Given the description of an element on the screen output the (x, y) to click on. 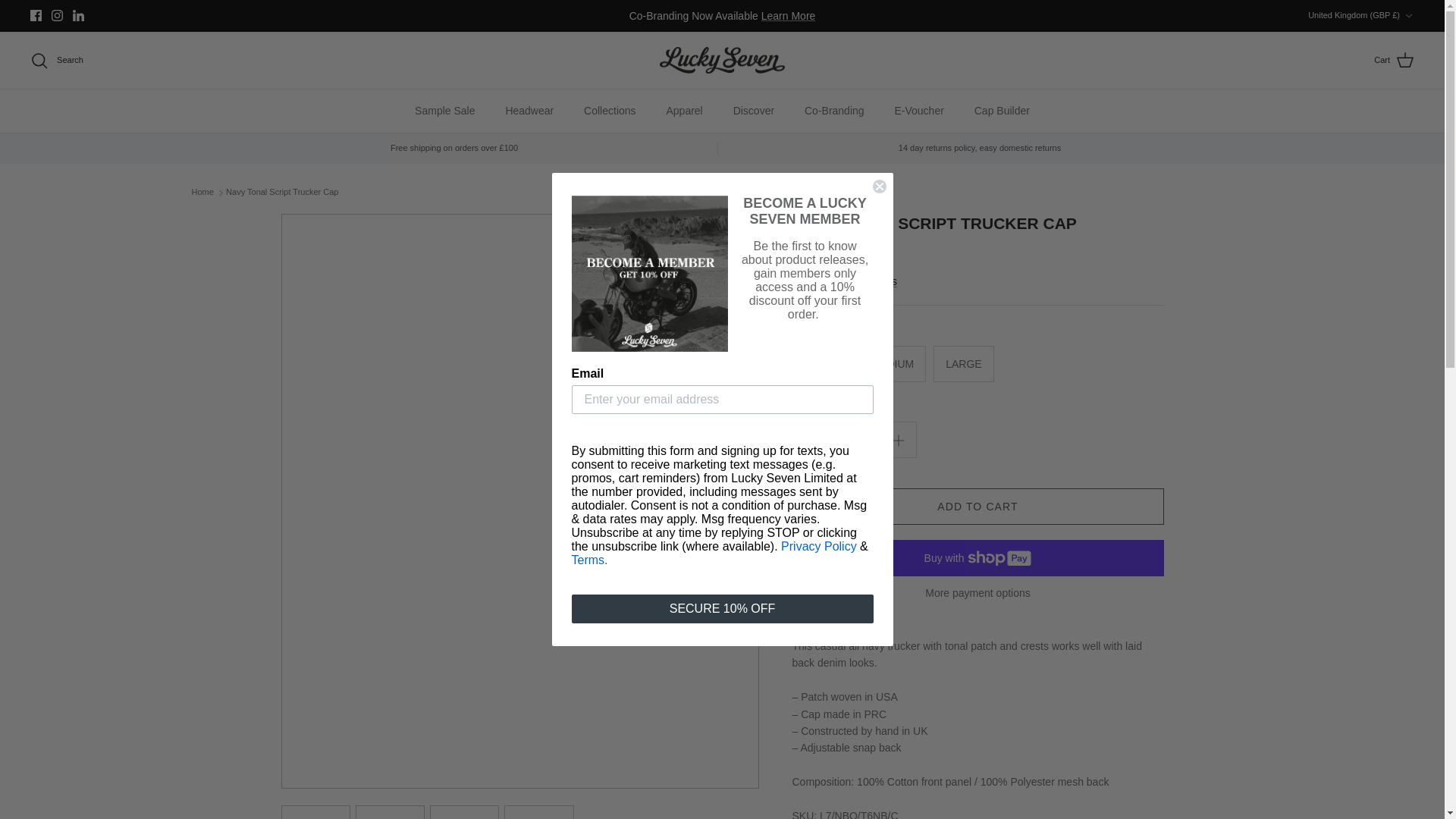
Facebook (36, 15)
Minus (809, 440)
Instagram (56, 15)
Facebook (36, 15)
Lucky Seven Caps (721, 60)
Co-Brand (788, 15)
Instagram (56, 15)
1 (853, 439)
RIGHT (741, 500)
Learn More (788, 15)
Down (1408, 15)
Plus (897, 440)
